Given the description of an element on the screen output the (x, y) to click on. 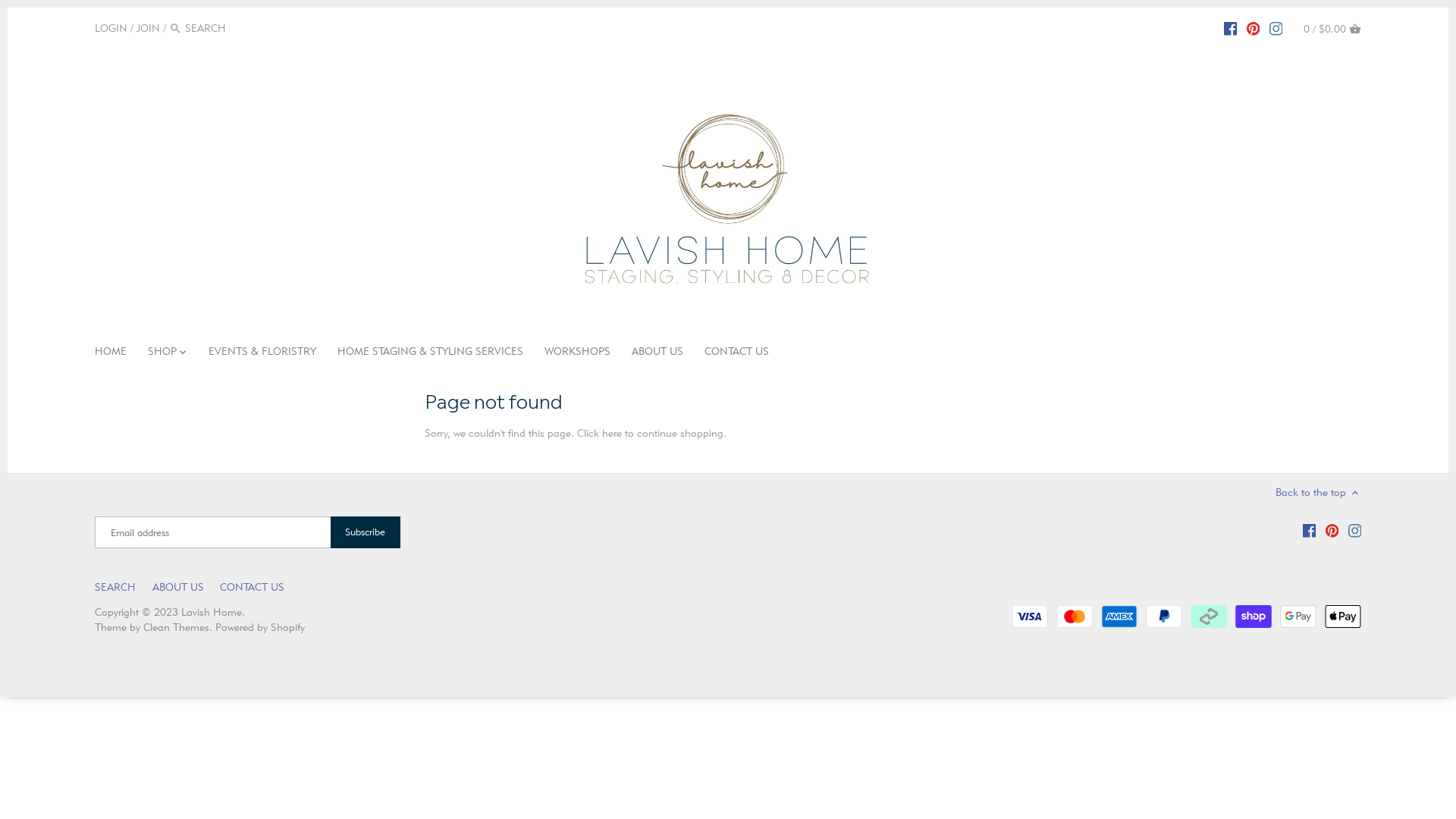
ABOUT US Element type: text (177, 586)
HOME STAGING & STYLING SERVICES Element type: text (429, 353)
FACEBOOK Element type: text (1230, 26)
Instagram Element type: text (1354, 529)
Search Element type: text (175, 28)
JOIN Element type: text (148, 27)
PINTEREST Element type: text (1253, 26)
Clean Themes Element type: text (176, 626)
LOGIN Element type: text (110, 27)
WORKSHOPS Element type: text (577, 353)
SEARCH Element type: text (114, 586)
0 / $0.00 CART Element type: text (1332, 27)
HOME Element type: text (115, 353)
EVENTS & FLORISTRY Element type: text (261, 353)
Pinterest Element type: text (1332, 529)
Facebook Element type: text (1309, 529)
Back to the top Element type: text (1318, 492)
CONTACT US Element type: text (251, 586)
Powered by Shopify Element type: text (259, 626)
ABOUT US Element type: text (657, 353)
Subscribe Element type: text (365, 532)
SHOP Element type: text (162, 353)
INSTAGRAM Element type: text (1276, 26)
Lavish Home Element type: text (211, 611)
CONTACT US Element type: text (736, 353)
Click here Element type: text (599, 432)
